Given the description of an element on the screen output the (x, y) to click on. 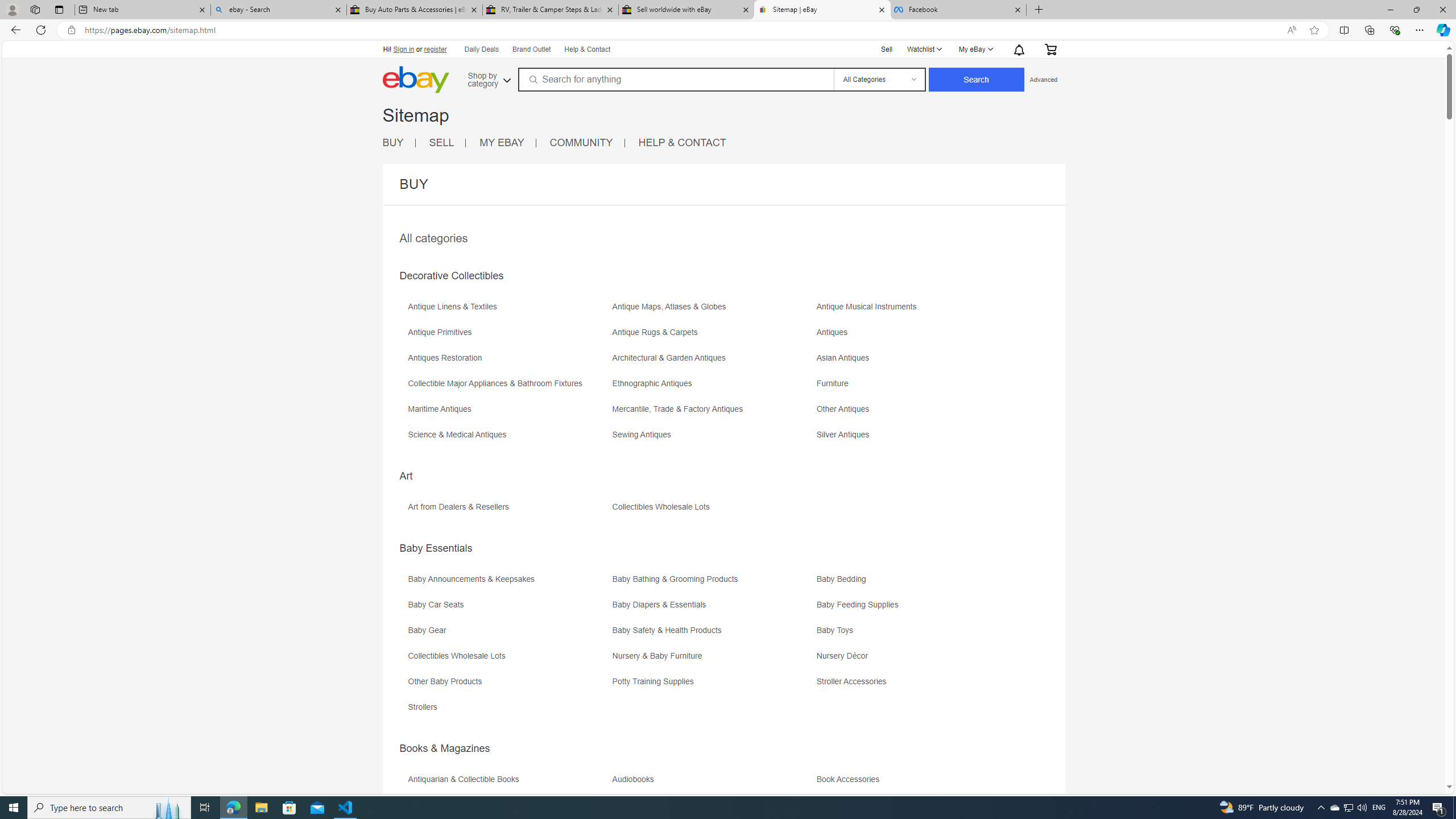
WatchlistExpand Watch List (923, 49)
Antique Musical Instruments (869, 306)
Baby Diapers & Essentials (661, 604)
Asian Antiques (845, 357)
eBay Logo (415, 79)
Brand Outlet (531, 49)
Baby Feeding Supplies (860, 604)
BUY (398, 142)
Antiques (834, 332)
All categories (432, 237)
Your shopping cart (1049, 49)
eBay Logo (453, 96)
Antique Rugs & Carpets (712, 336)
